Given the description of an element on the screen output the (x, y) to click on. 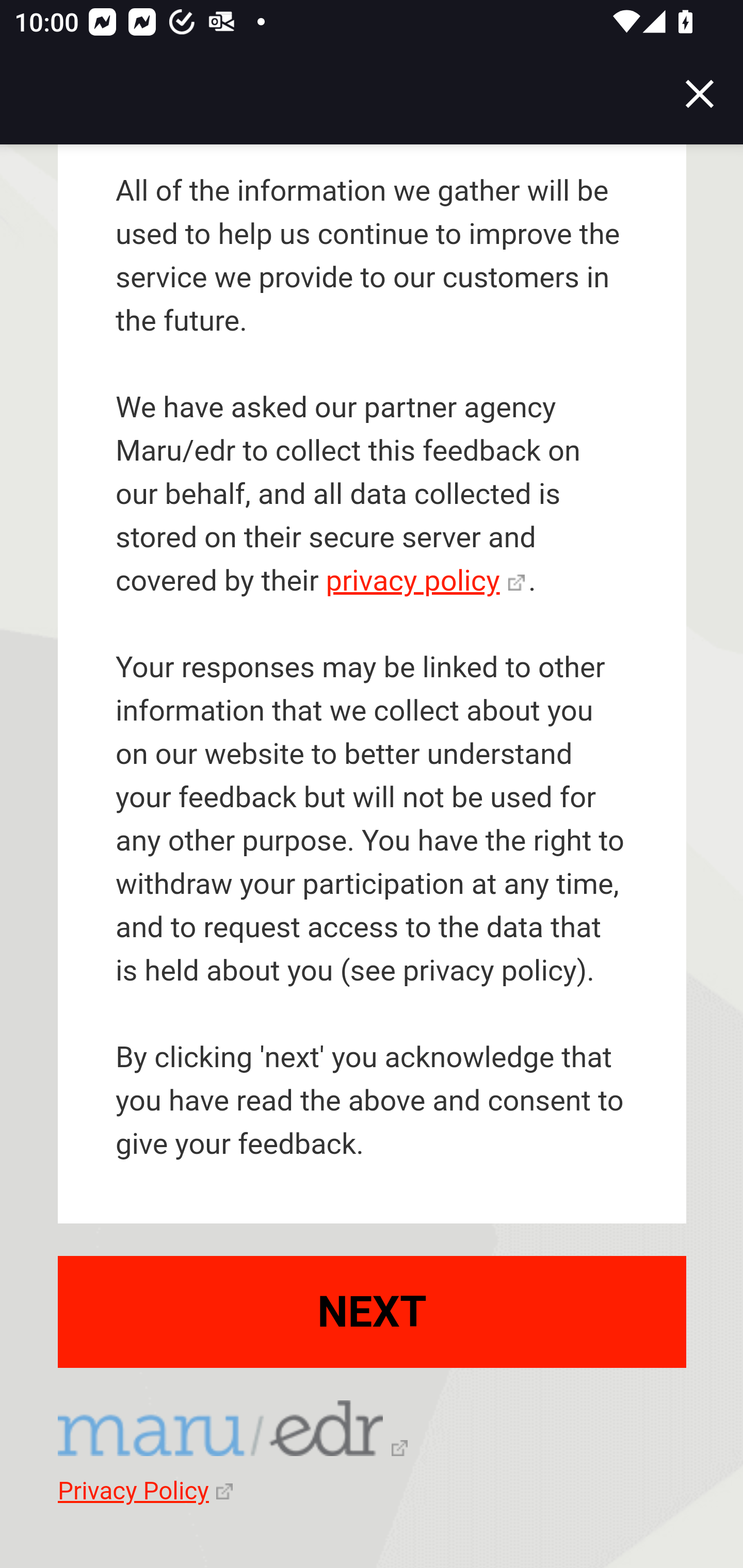
Close (699, 93)
privacy policy  privacy policy    (425, 582)
NEXT (372, 1312)
Privacy Policy  Privacy Policy    (144, 1492)
